Given the description of an element on the screen output the (x, y) to click on. 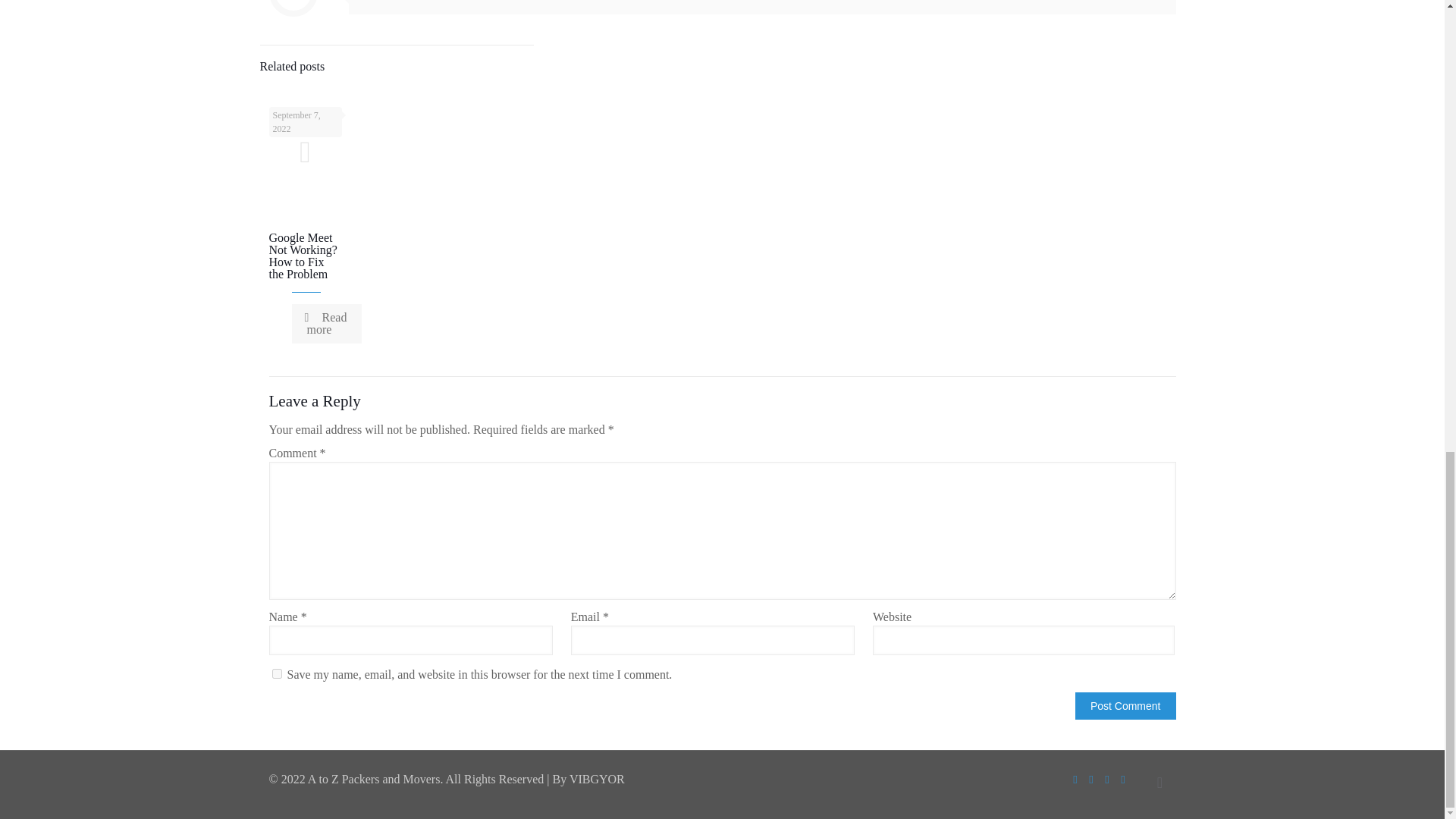
yes (275, 673)
Facebook (1091, 779)
Read more (326, 323)
Skype (1074, 779)
Google Meet Not Working? How to Fix the Problem (301, 255)
Post Comment (1125, 705)
LinkedIn (1123, 779)
Post Comment (1125, 705)
YouTube (1106, 779)
